Given the description of an element on the screen output the (x, y) to click on. 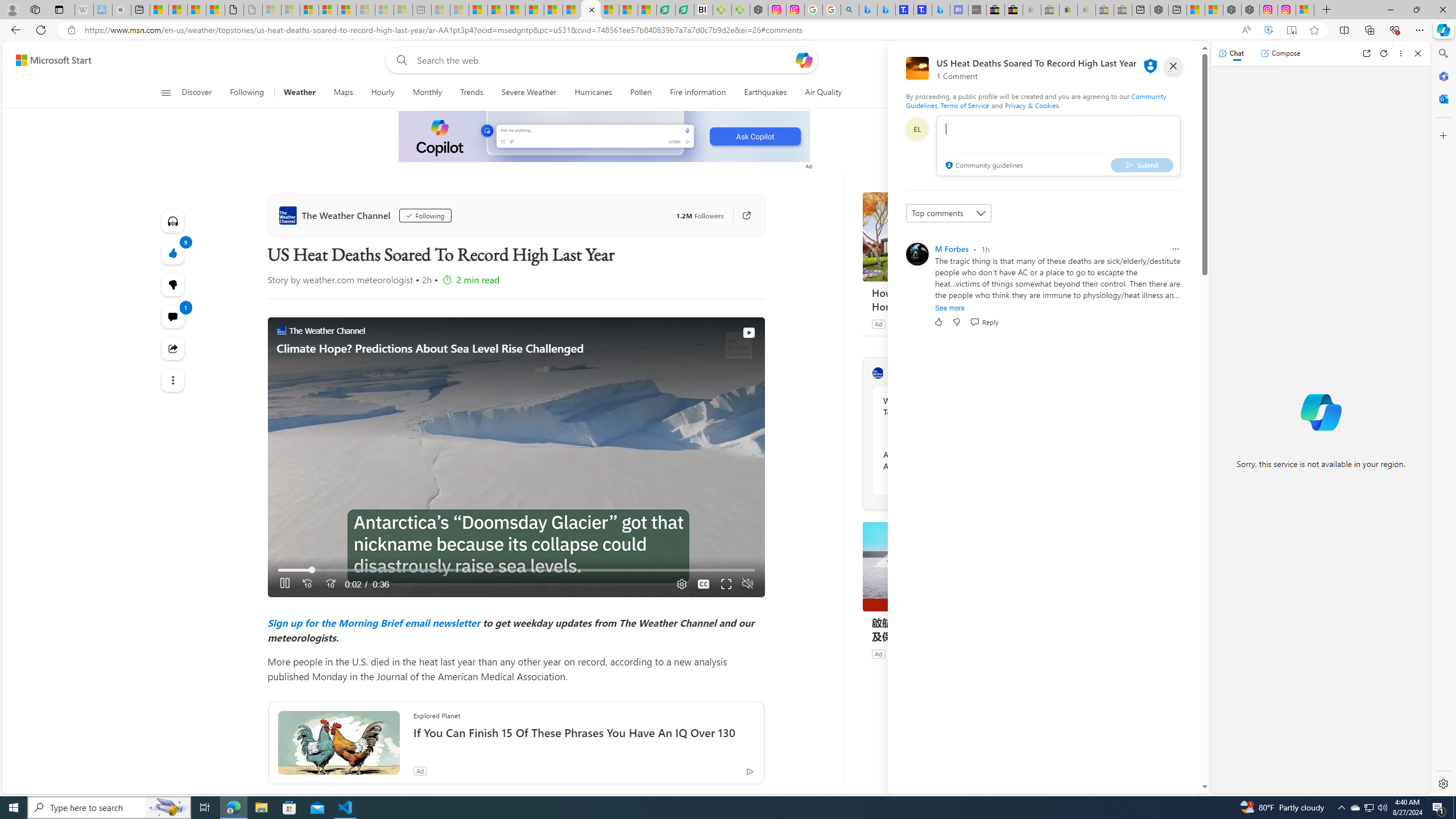
Trends (471, 92)
View on Watch (748, 332)
Microsoft account | Account Checkup - Sleeping (402, 9)
Sort comments by (948, 212)
Progress Bar (516, 569)
The importance of being lazy (1213, 9)
LendingTree (907, 323)
